Given the description of an element on the screen output the (x, y) to click on. 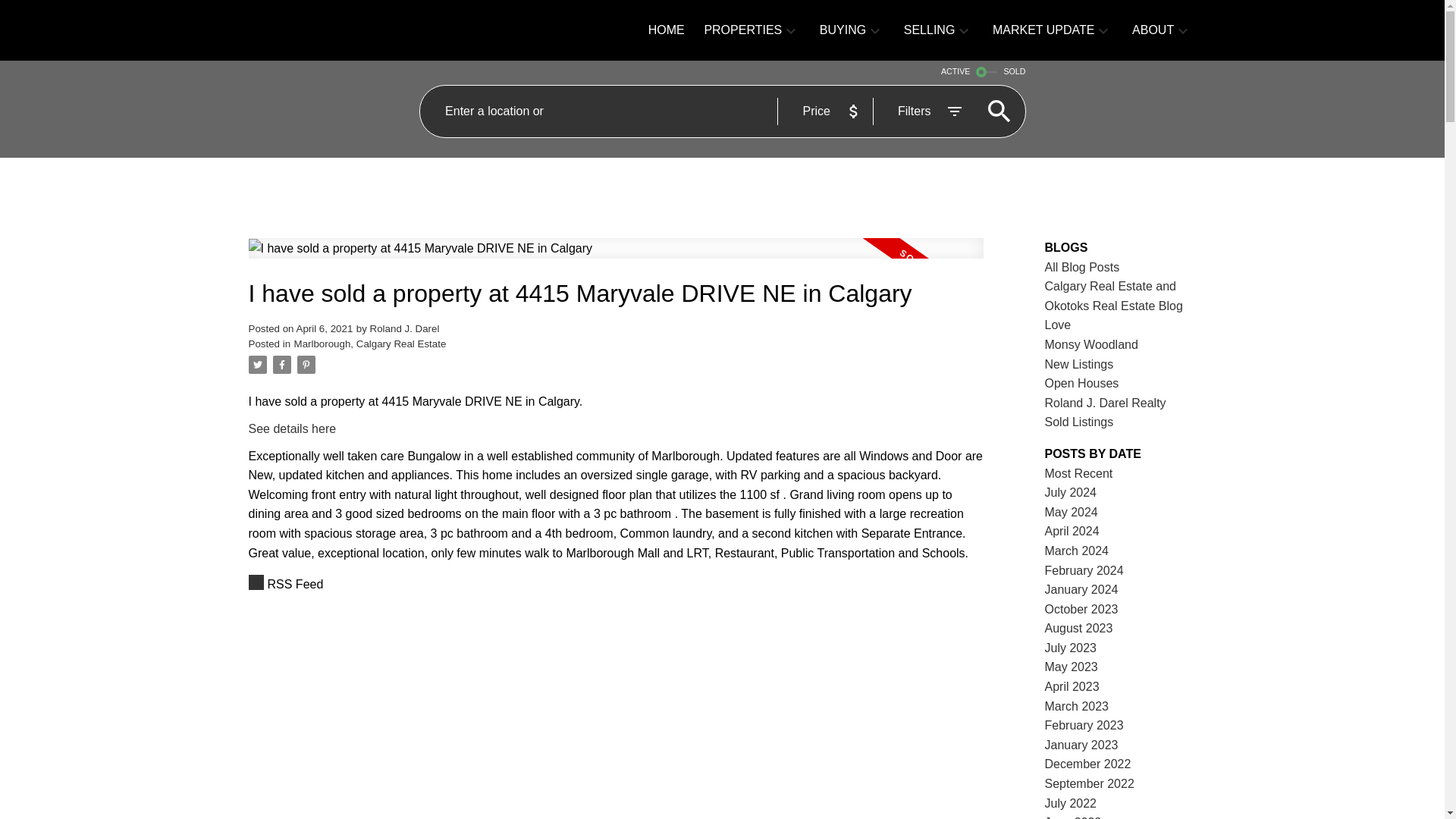
New Listings (1079, 364)
Monsy Woodland (1091, 344)
Most Recent (1079, 472)
Calgary Real Estate and Okotoks Real Estate Blog (1113, 296)
Sold Listings (1079, 421)
Roland J. Darel Realty (1105, 402)
All Blog Posts (1082, 267)
Open Houses (1082, 382)
Marlborough, Calgary Real Estate (370, 343)
See details here (292, 428)
RSS (616, 584)
HOME (665, 30)
Love (1058, 324)
